Given the description of an element on the screen output the (x, y) to click on. 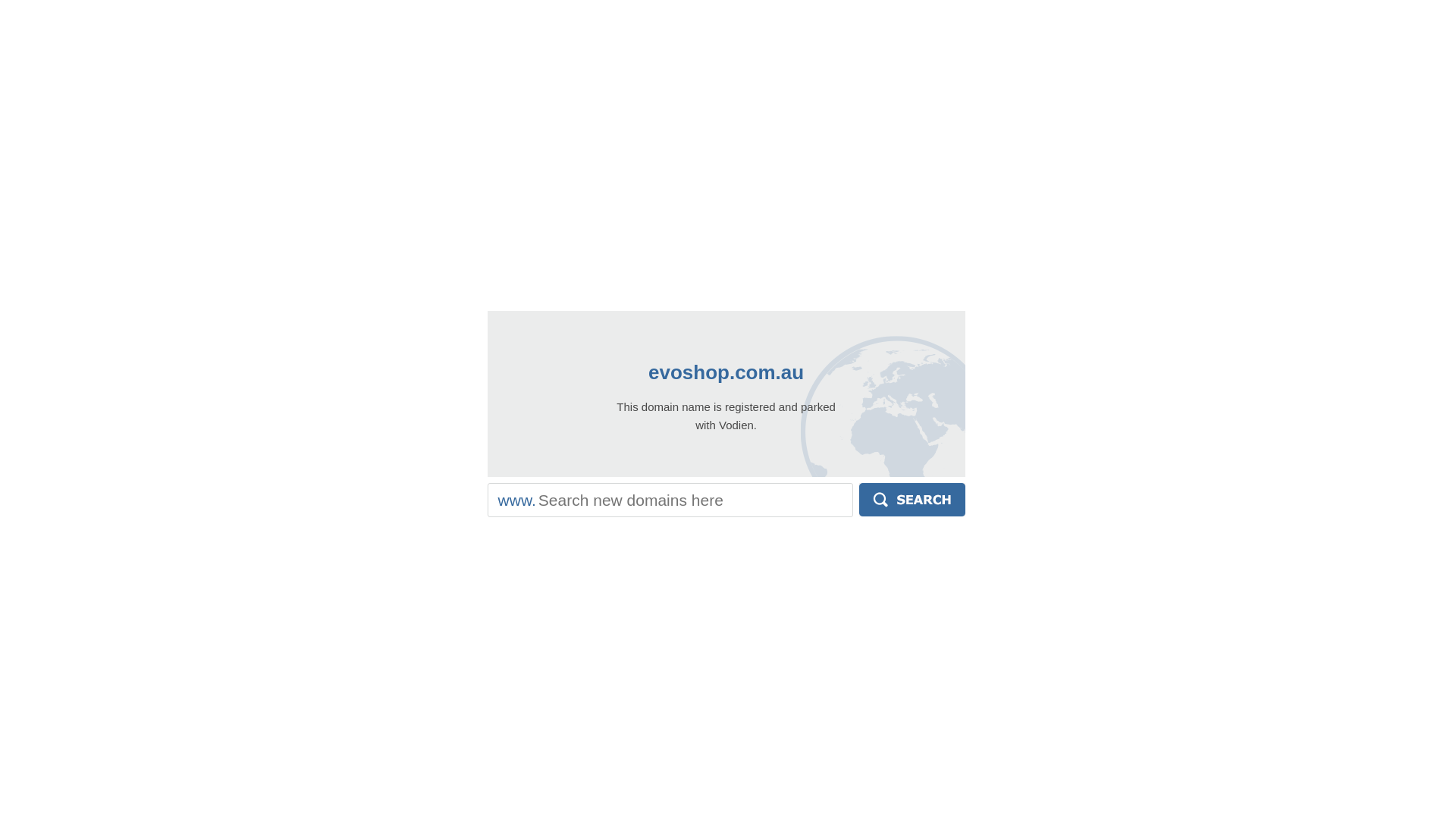
Search Element type: text (912, 499)
